Given the description of an element on the screen output the (x, y) to click on. 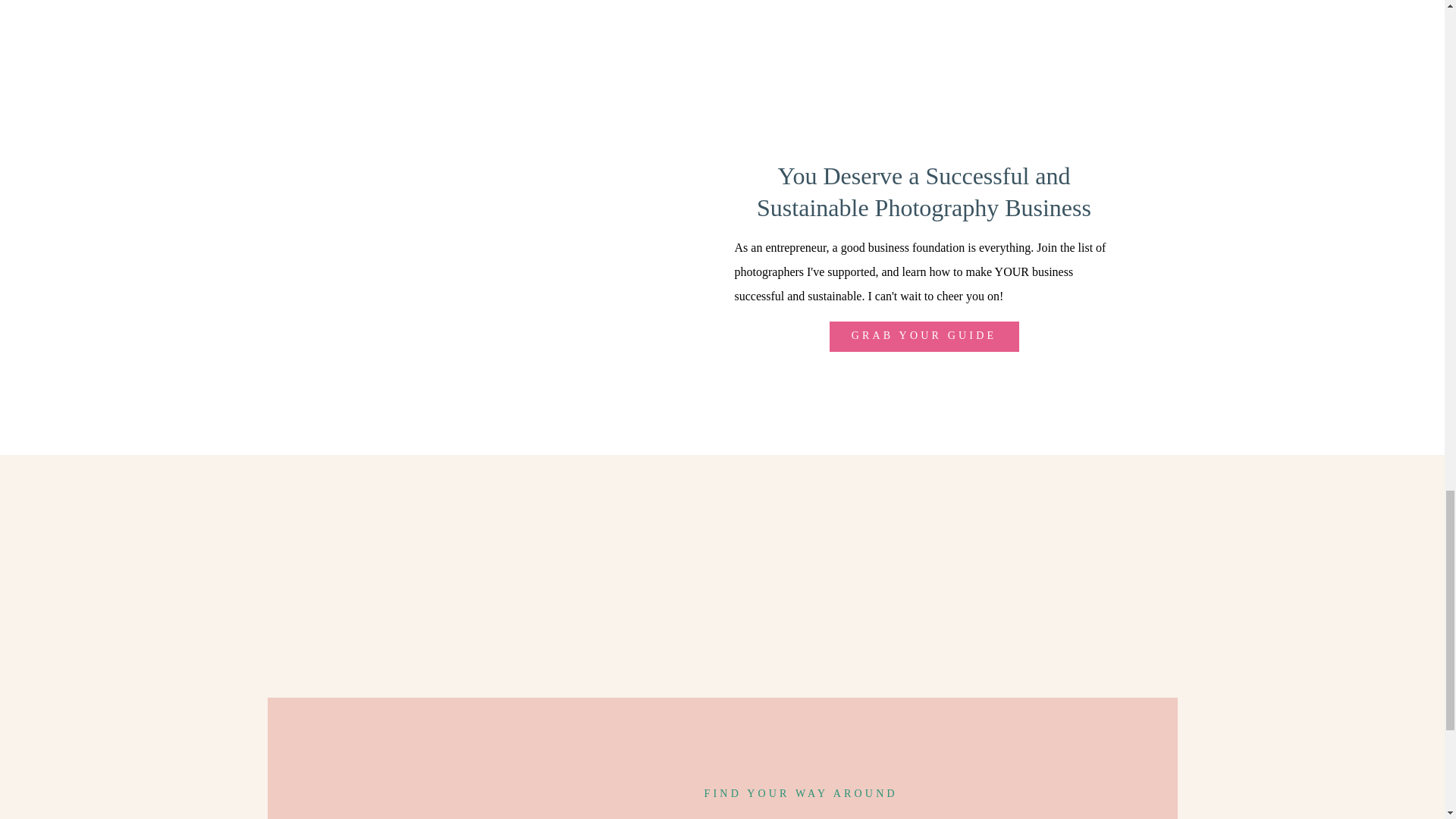
Root to Rise Waitlist (342, 83)
The Aligned Photographer (357, 47)
58: Unpopular Opinion About Changing Your Mind 2 (313, 120)
